Given the description of an element on the screen output the (x, y) to click on. 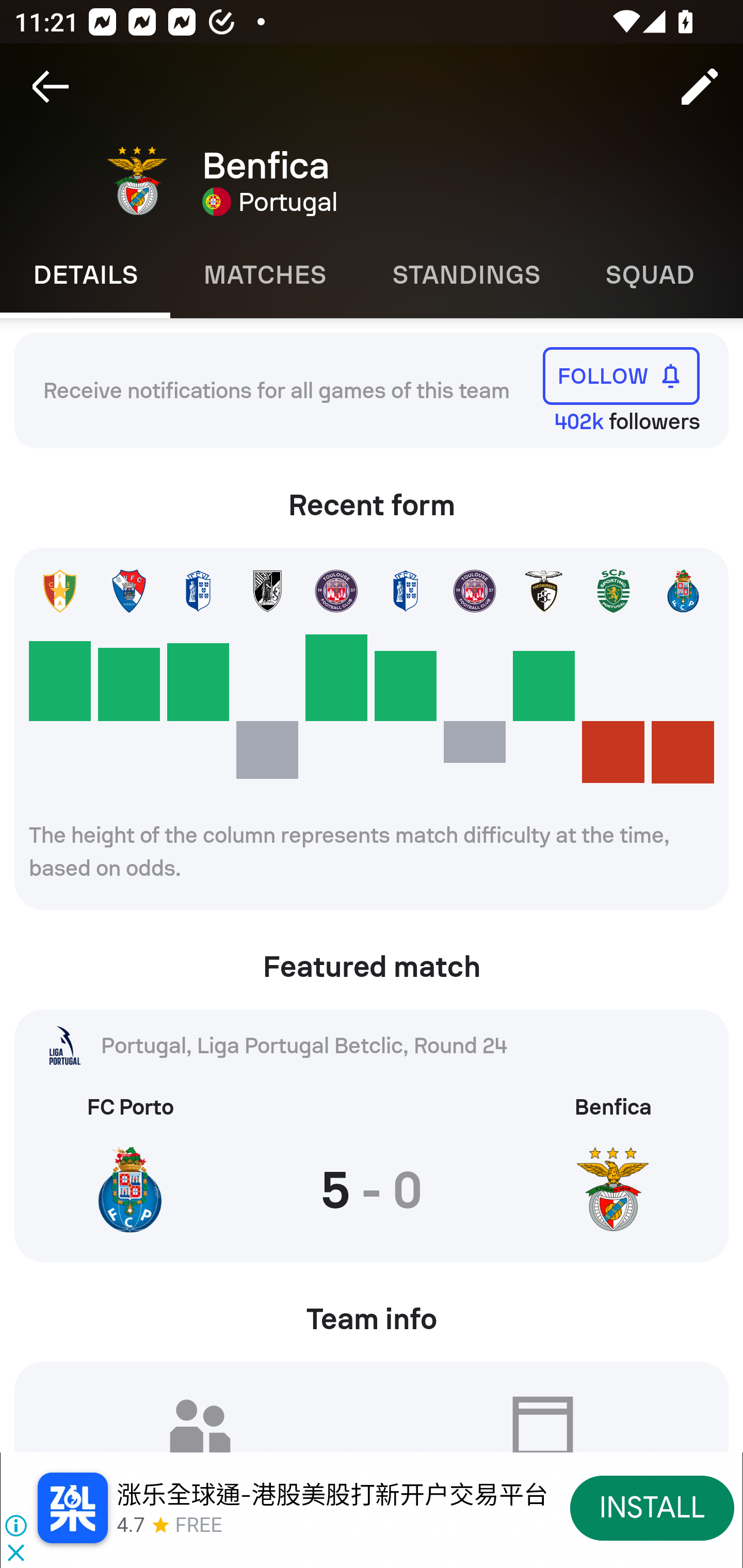
Navigate up (50, 86)
Edit (699, 86)
Matches MATCHES (264, 275)
Standings STANDINGS (465, 275)
Squad SQUAD (650, 275)
FOLLOW (621, 375)
INSTALL (652, 1507)
涨乐全球通-港股美股打新开户交易平台 (332, 1494)
